Given the description of an element on the screen output the (x, y) to click on. 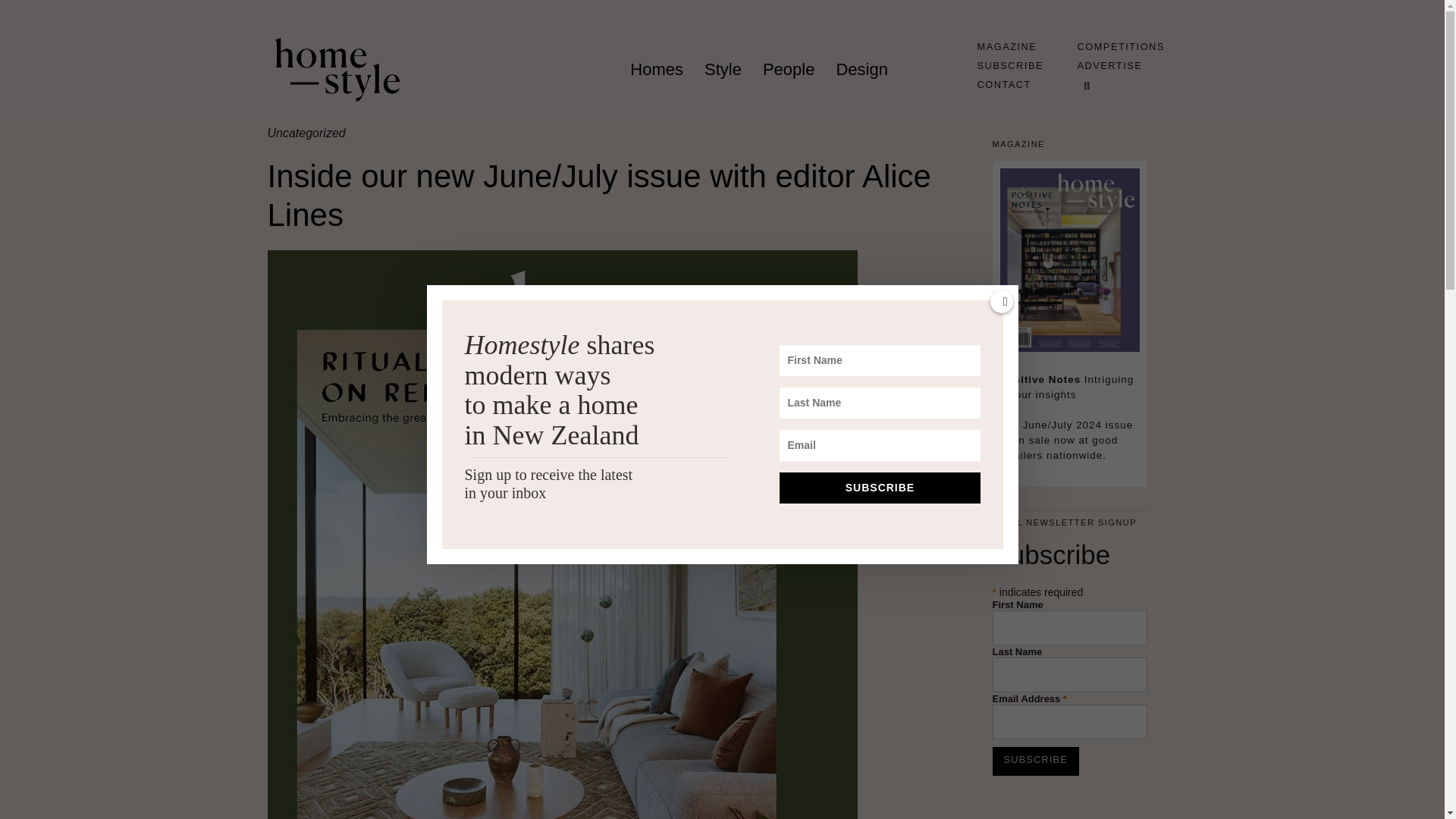
Uncategorized (305, 132)
Homes (657, 69)
Design (861, 69)
COMPETITIONS (1120, 46)
CONTACT (1003, 84)
Style (723, 69)
Subscribe (1034, 760)
People (788, 69)
ADVERTISE (1109, 65)
MAGAZINE (1006, 46)
SUBSCRIBE (1009, 65)
Subscribe (1034, 760)
